Given the description of an element on the screen output the (x, y) to click on. 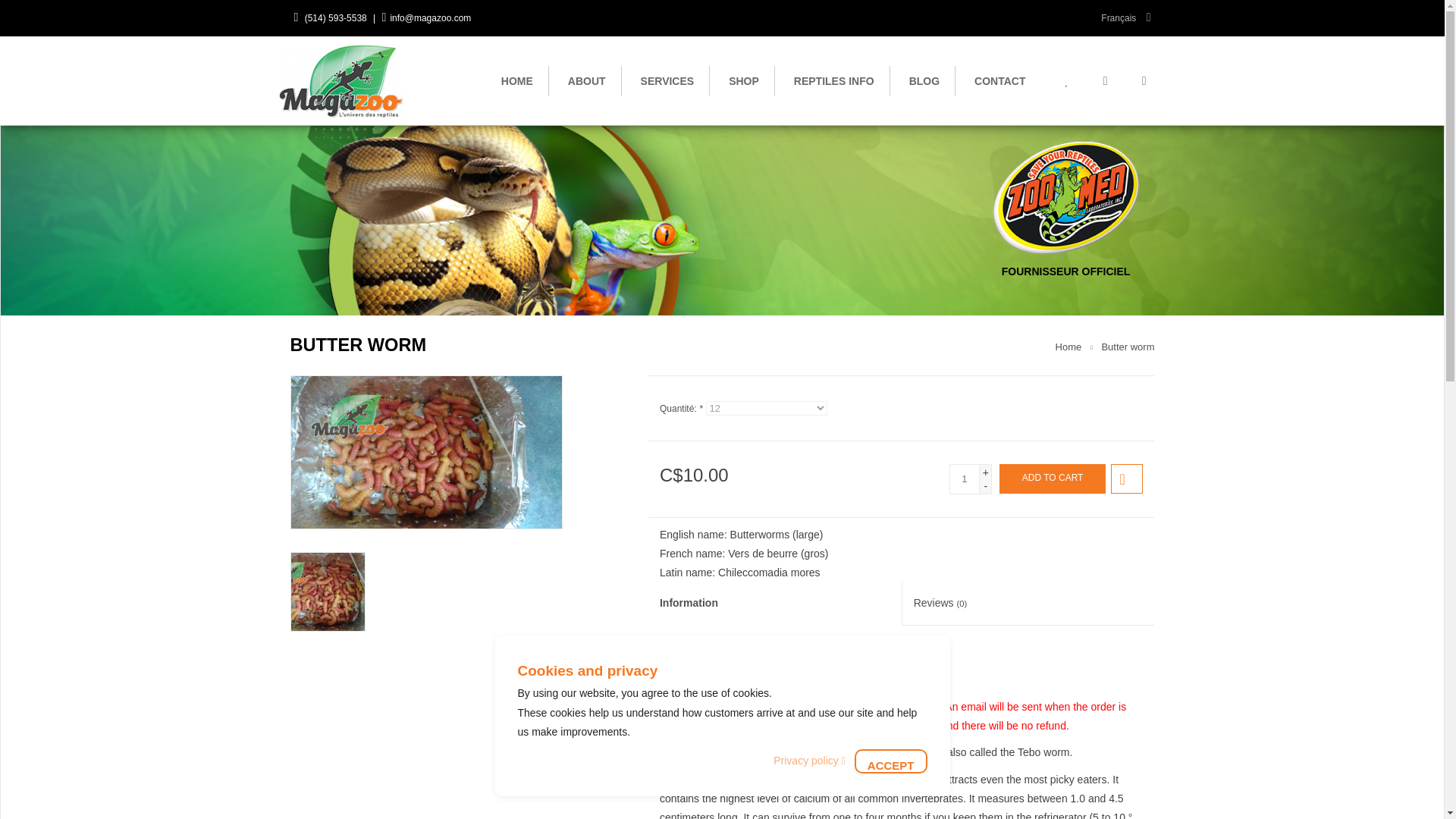
Home (1068, 346)
SHOP (743, 80)
ABOUT (587, 80)
Cart (1104, 80)
CONTACT (1000, 80)
1 (964, 479)
BLOG (924, 80)
SERVICES (668, 80)
Services (668, 80)
Contact (1000, 80)
Blog (924, 80)
REPTILES INFO (833, 80)
Reptiles Info (833, 80)
Shop (743, 80)
Wish List (1066, 80)
